Given the description of an element on the screen output the (x, y) to click on. 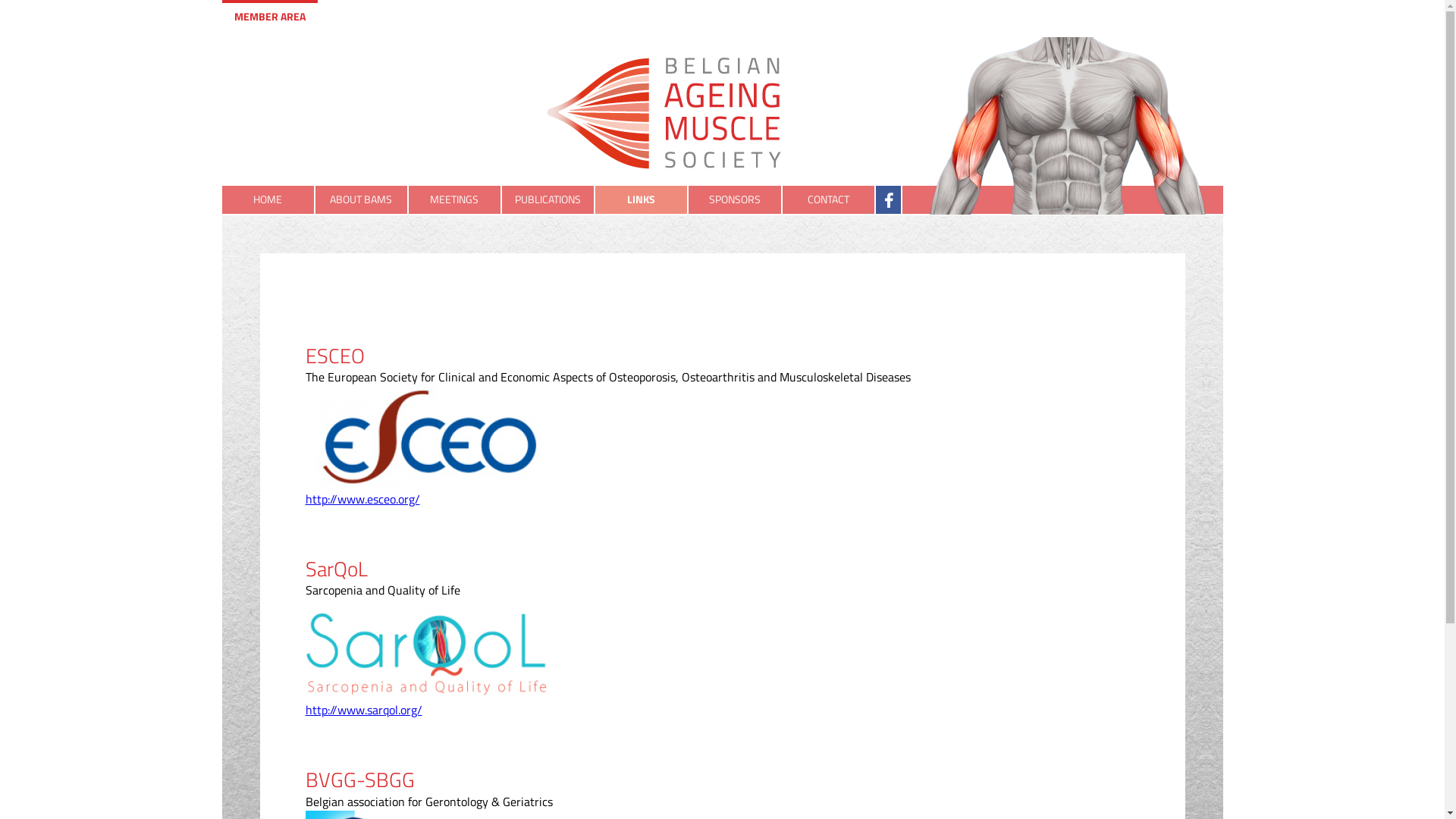
SPONSORS Element type: text (734, 199)
LINKS Element type: text (641, 199)
BVGG-SBGG Element type: text (359, 778)
ABOUT BAMS Element type: text (361, 199)
MEMBER AREA Element type: text (268, 15)
Belgian association for Gerontology & Geriatrics Element type: text (721, 801)
FACEBOOK Element type: text (888, 199)
Sarcopenia and Quality of Life Element type: text (381, 589)
SarQoL Element type: text (335, 567)
http://www.esceo.org/ Element type: text (361, 498)
ESCEO Element type: text (334, 354)
MEETINGS Element type: text (455, 199)
CONTACT Element type: text (828, 199)
HOME Element type: text (267, 199)
PUBLICATIONS Element type: text (548, 199)
http://www.sarqol.org/ Element type: text (362, 709)
